Given the description of an element on the screen output the (x, y) to click on. 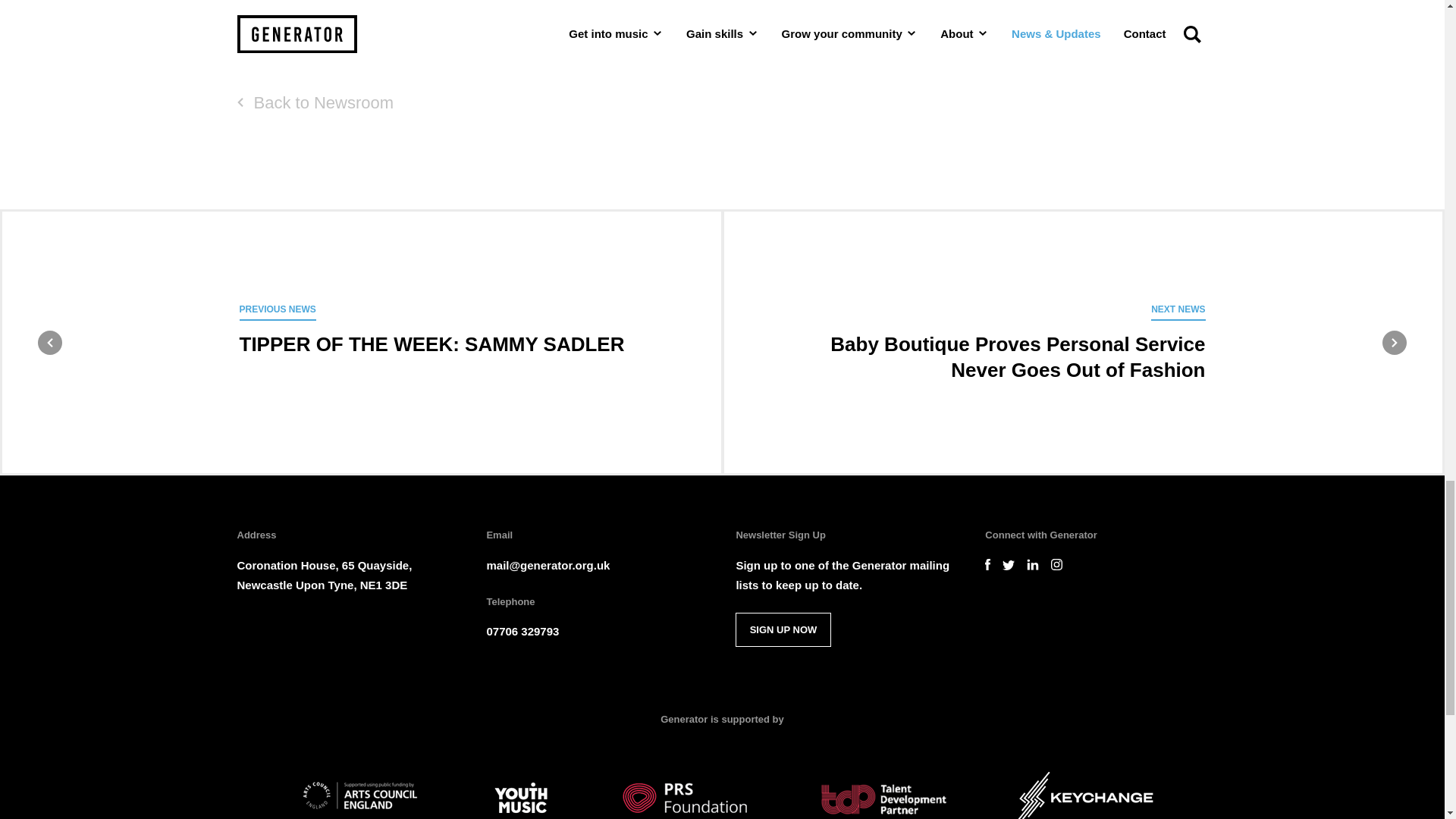
Sign up to receive Generator updates (782, 629)
Back to Newsroom (314, 101)
LinkedIn. (379, 15)
SIGN UP NOW (611, 2)
Return to the Newsroom (782, 629)
